Given the description of an element on the screen output the (x, y) to click on. 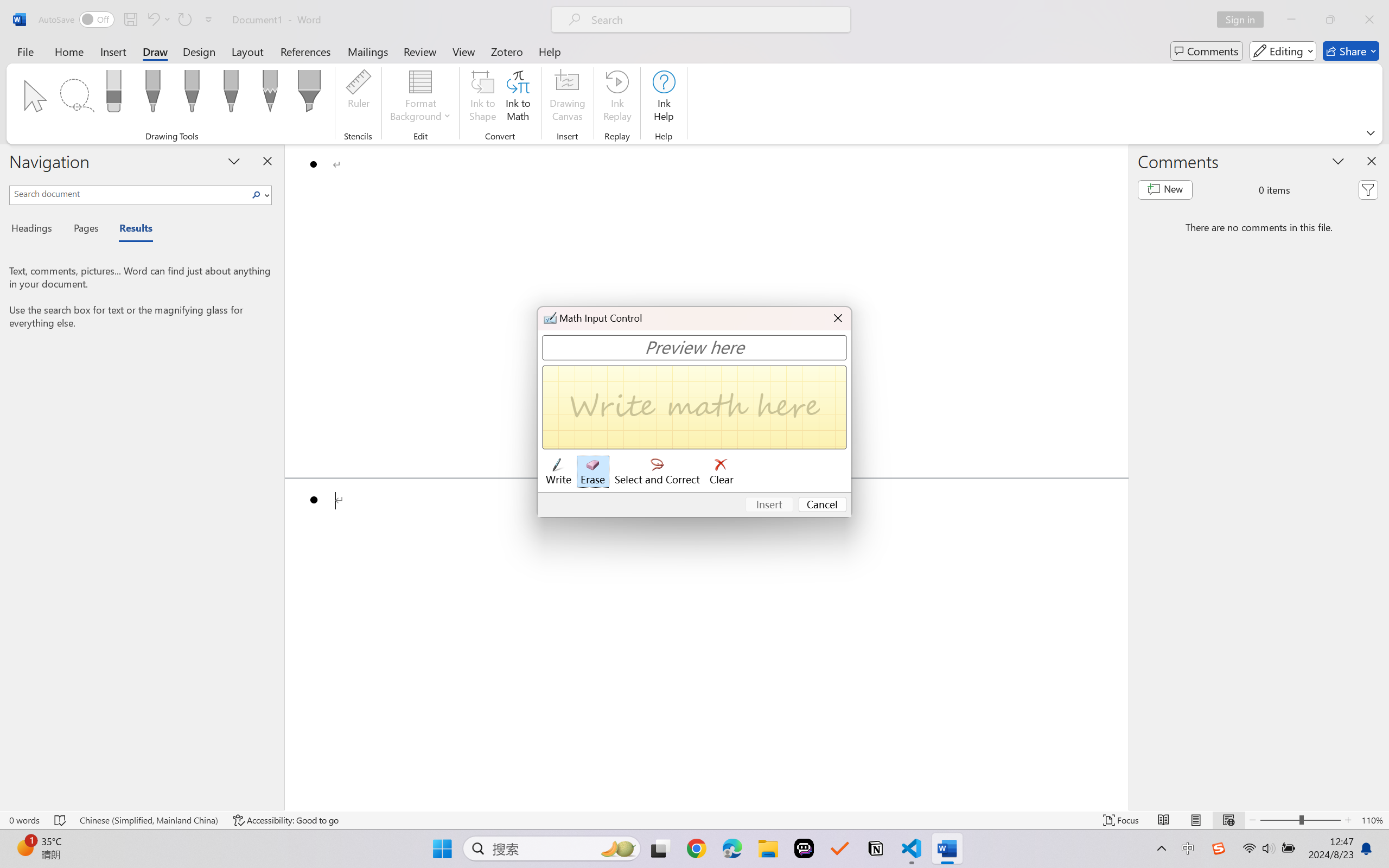
Clear (721, 471)
Select and Correct (657, 471)
